Given the description of an element on the screen output the (x, y) to click on. 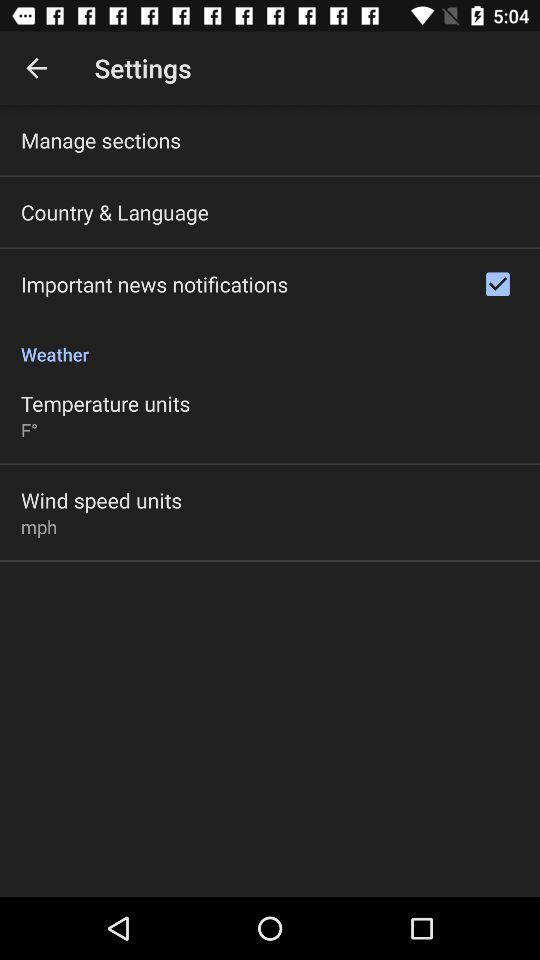
launch the item above important news notifications (114, 211)
